Given the description of an element on the screen output the (x, y) to click on. 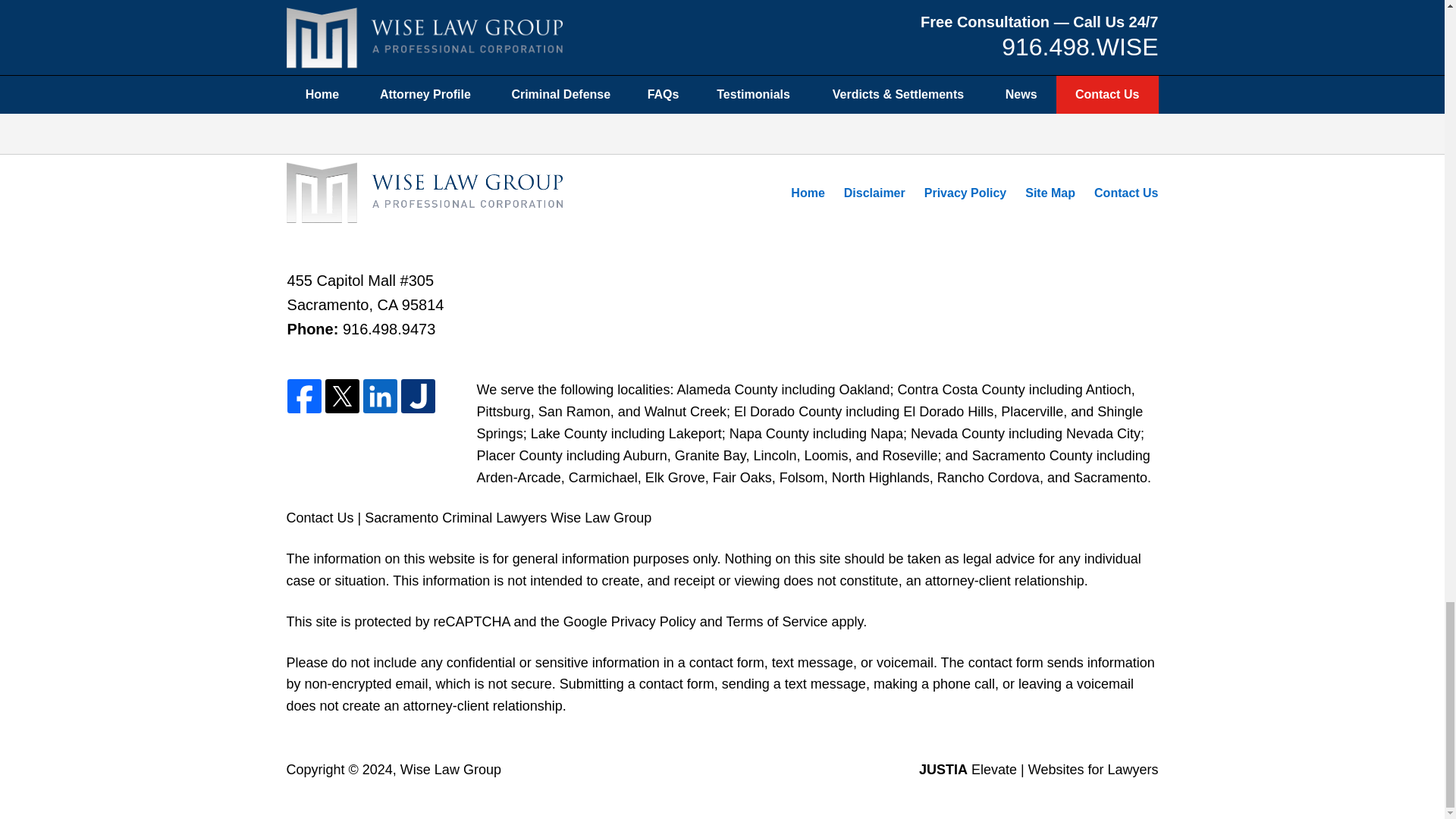
View More (722, 11)
Justia (418, 397)
Linkedin (379, 397)
916.498.9473 (388, 329)
Twitter (341, 397)
Facebook (303, 397)
Submit a Law Firm Client Review (721, 69)
